Given the description of an element on the screen output the (x, y) to click on. 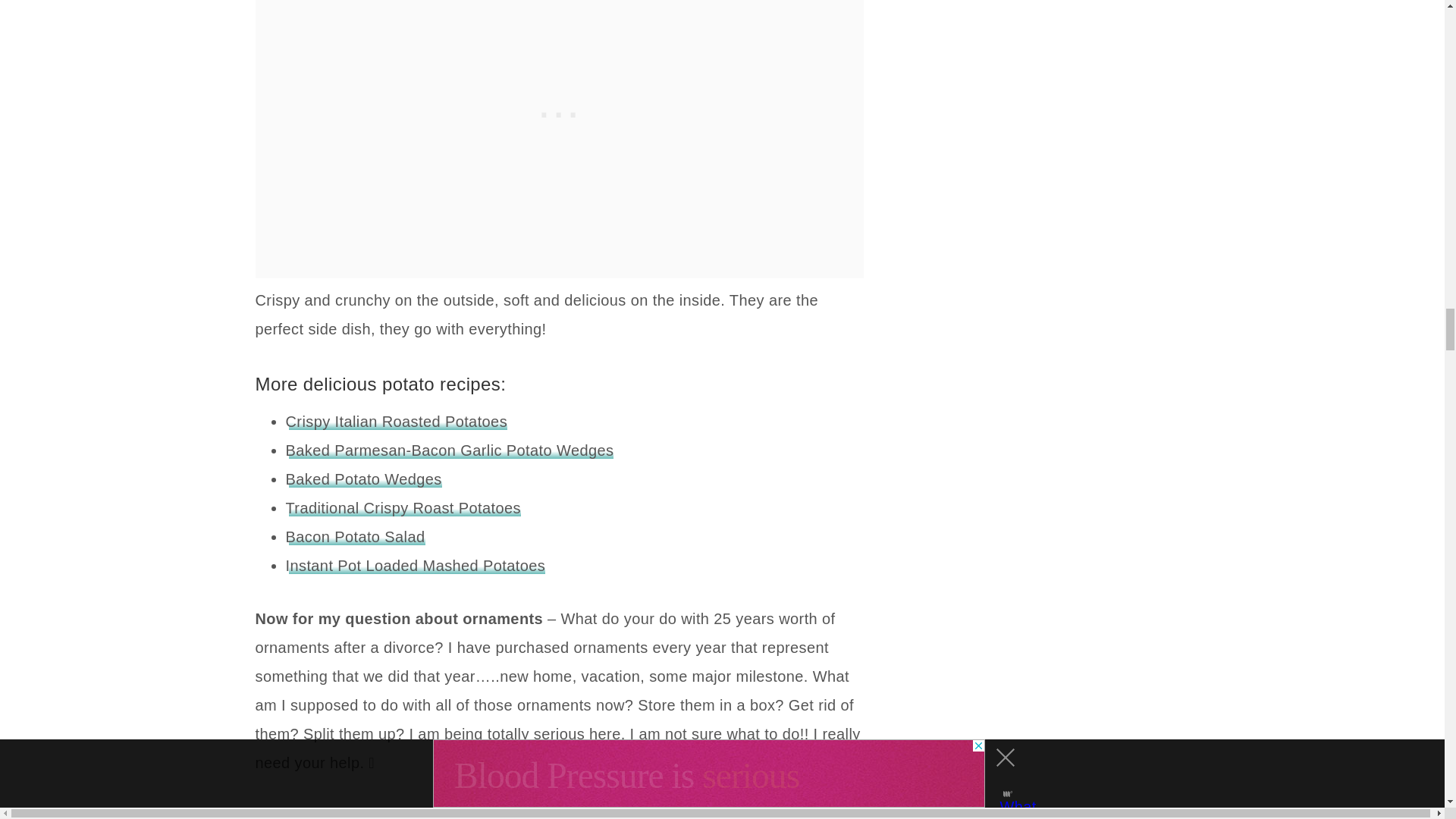
Baked Parmesan-Bacon Garlic Potato Wedges (448, 450)
Traditional Crispy Roast Potatoes (402, 507)
Bacon Potato Salad (355, 536)
Instant Pot Loaded Mashed Potatoes (414, 565)
Baked Potato Wedges (363, 478)
Crispy Italian Roasted Potatoes (395, 421)
